Given the description of an element on the screen output the (x, y) to click on. 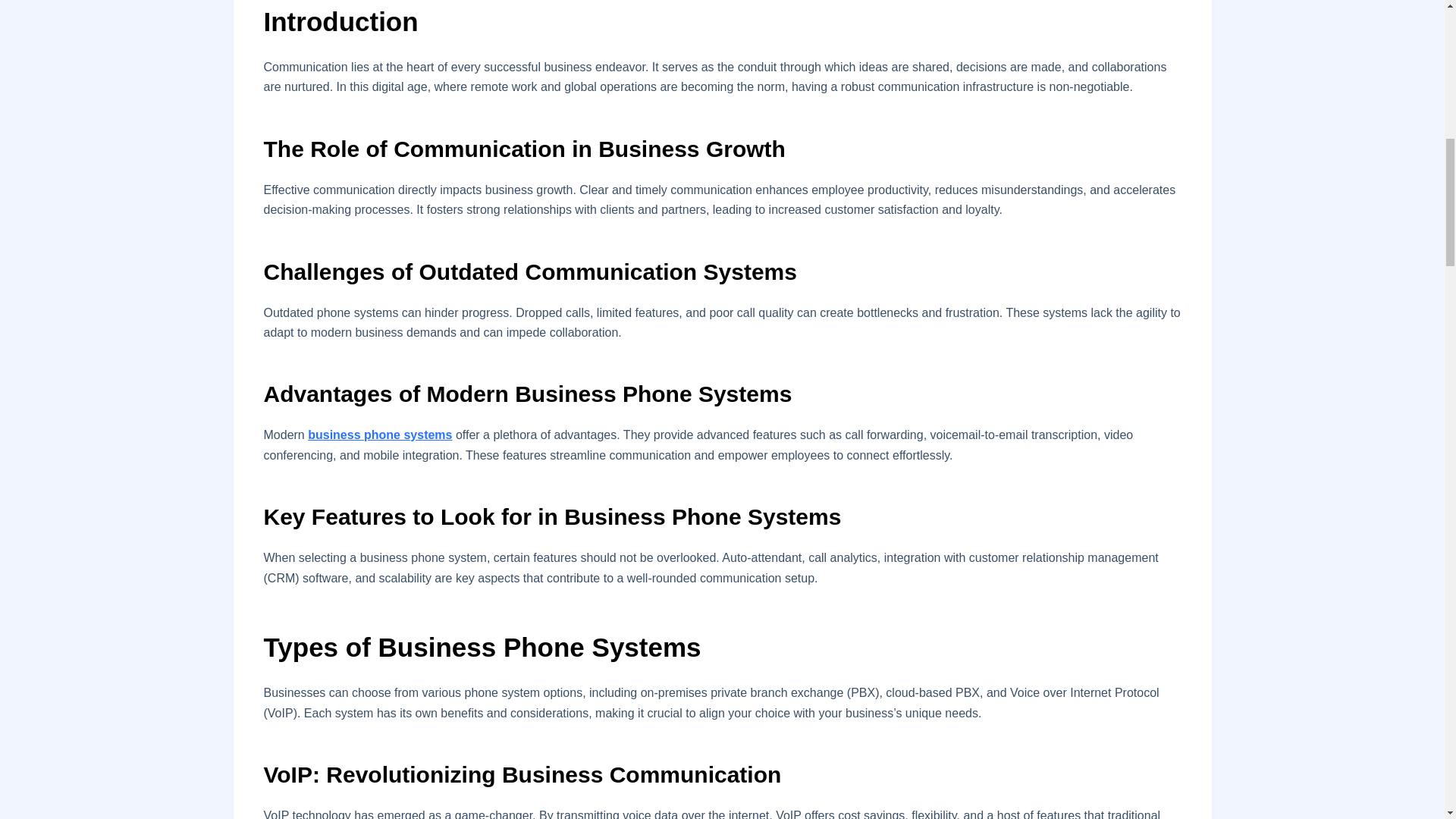
business phone systems (379, 434)
